Given the description of an element on the screen output the (x, y) to click on. 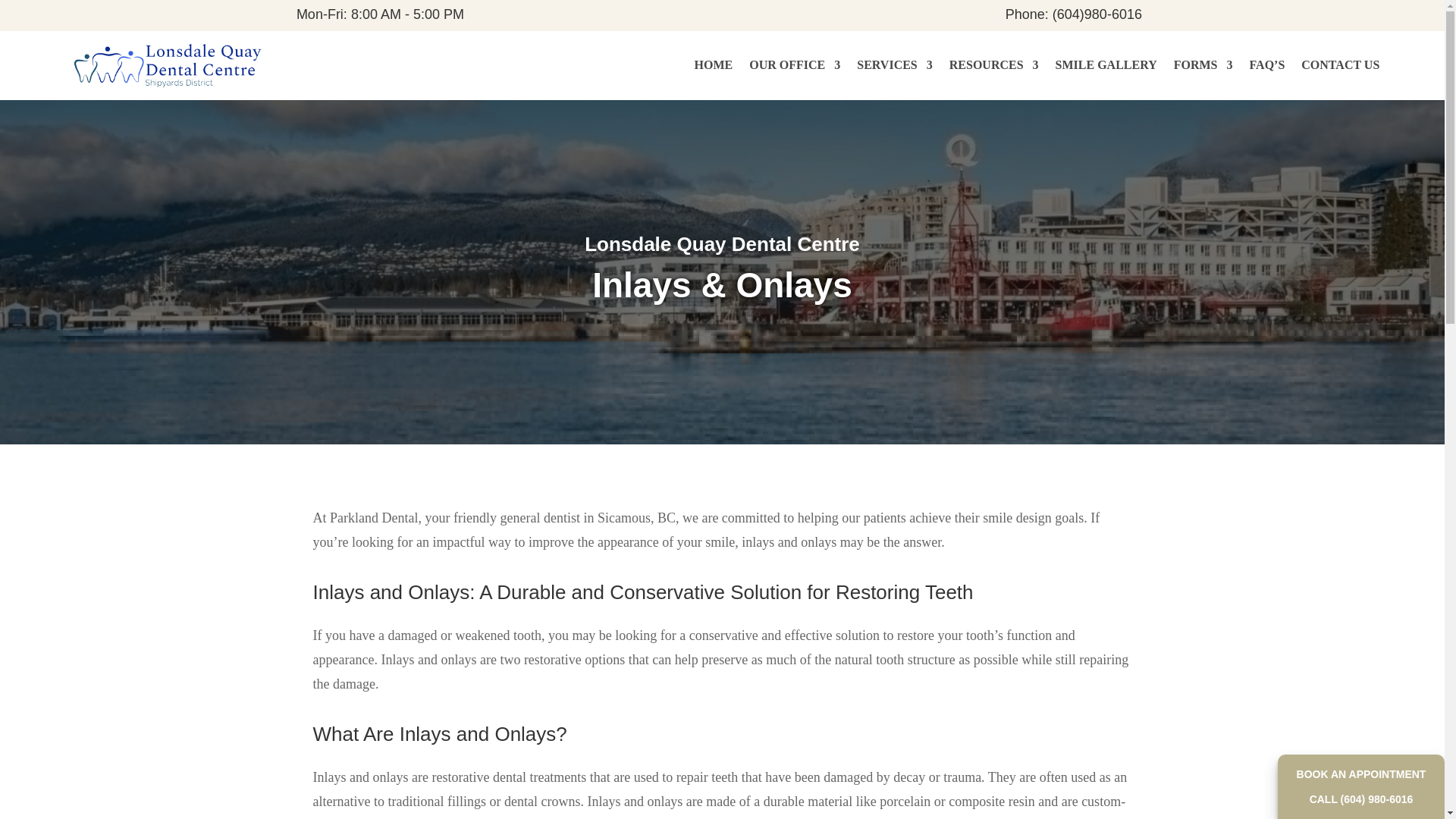
SERVICES (894, 65)
RESOURCES (994, 65)
OUR OFFICE (794, 65)
